Given the description of an element on the screen output the (x, y) to click on. 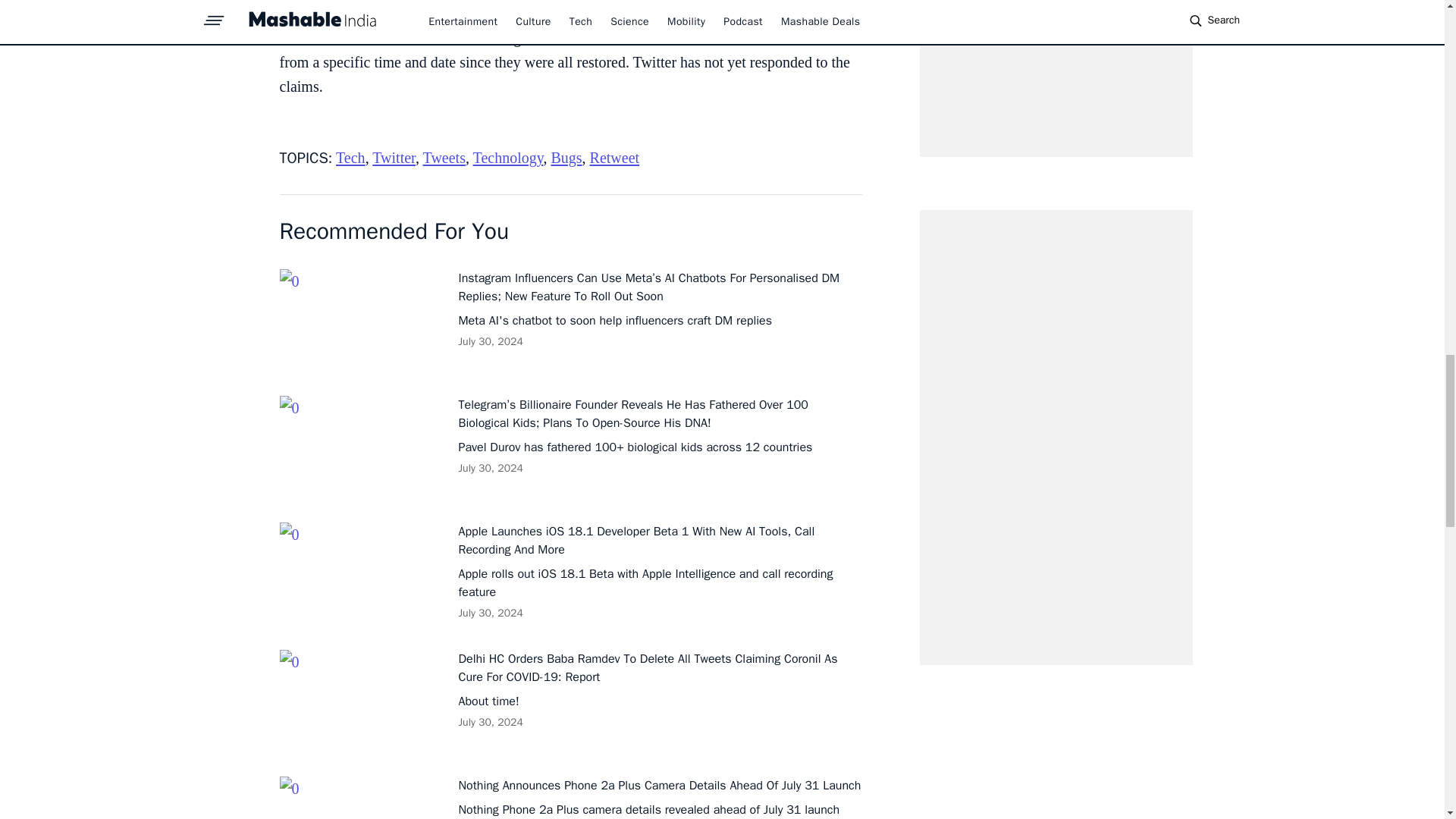
Retweet (614, 157)
Tweets (444, 157)
Tech (350, 157)
Twitter (393, 157)
Technology (508, 157)
Bugs (565, 157)
